Given the description of an element on the screen output the (x, y) to click on. 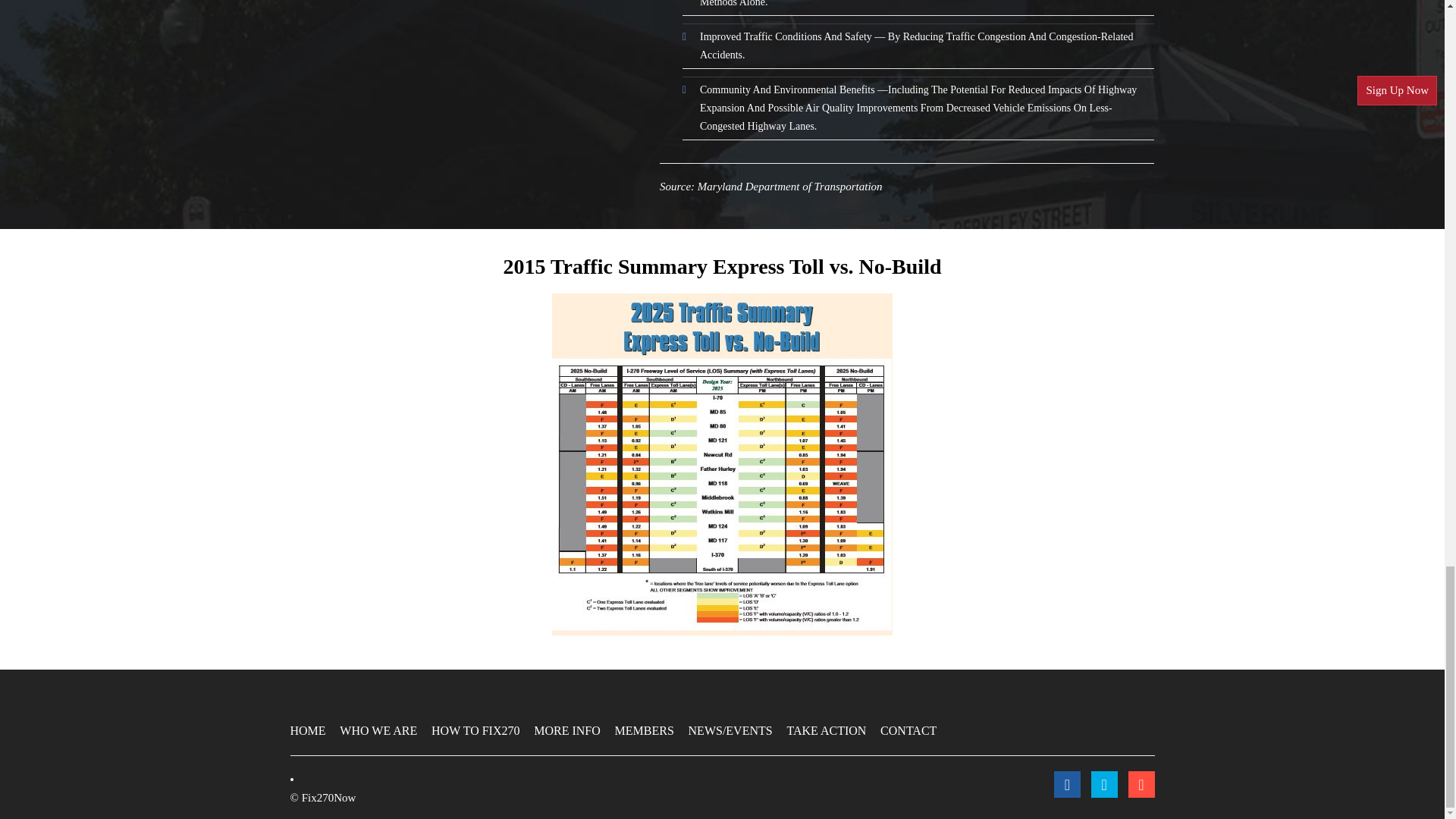
WHO WE ARE (377, 730)
MEMBERS (644, 730)
TAKE ACTION (826, 730)
CONTACT (908, 730)
MORE INFO (566, 730)
HOME (306, 730)
HOW TO FIX270 (474, 730)
